Given the description of an element on the screen output the (x, y) to click on. 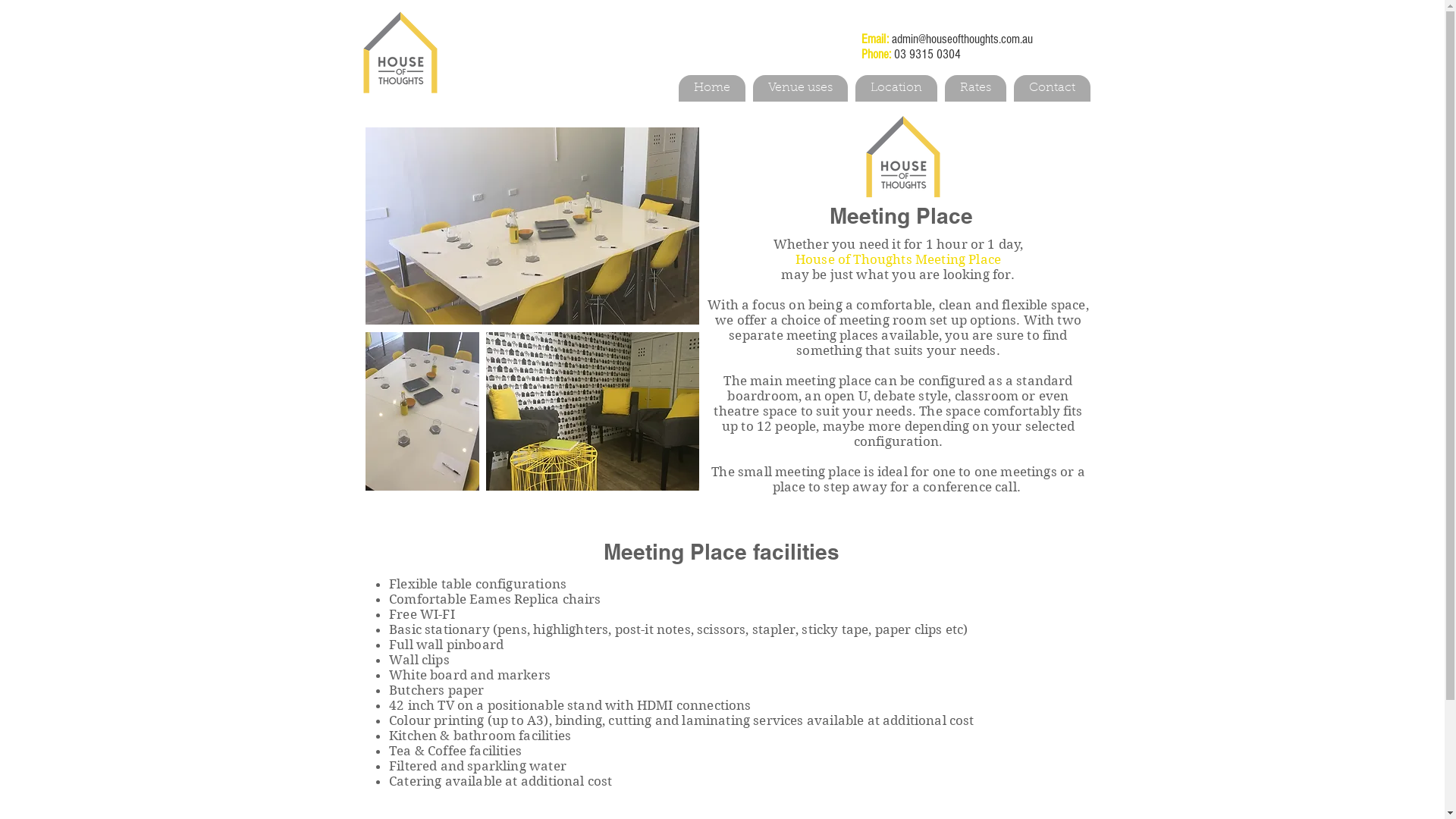
Home Element type: text (710, 88)
Venue uses Element type: text (799, 88)
Contact Element type: text (1051, 88)
Location Element type: text (896, 88)
Rates Element type: text (975, 88)
admin@houseofthoughts.com.au Element type: text (961, 38)
